Given the description of an element on the screen output the (x, y) to click on. 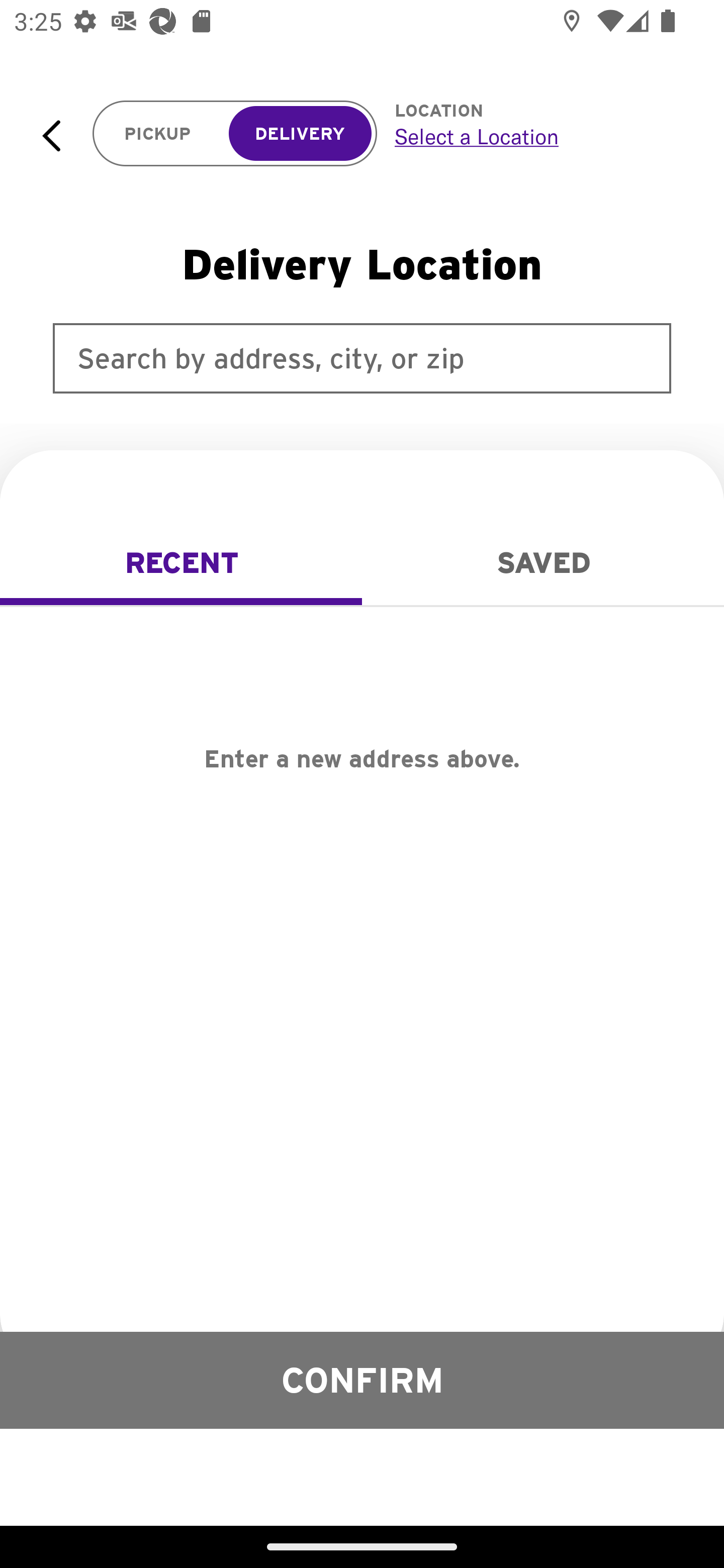
PICKUP (157, 133)
DELIVERY (299, 133)
Select a Location (536, 136)
Search by address, city, or zip (361, 358)
Saved SAVED (543, 562)
CONFIRM (362, 1379)
